Given the description of an element on the screen output the (x, y) to click on. 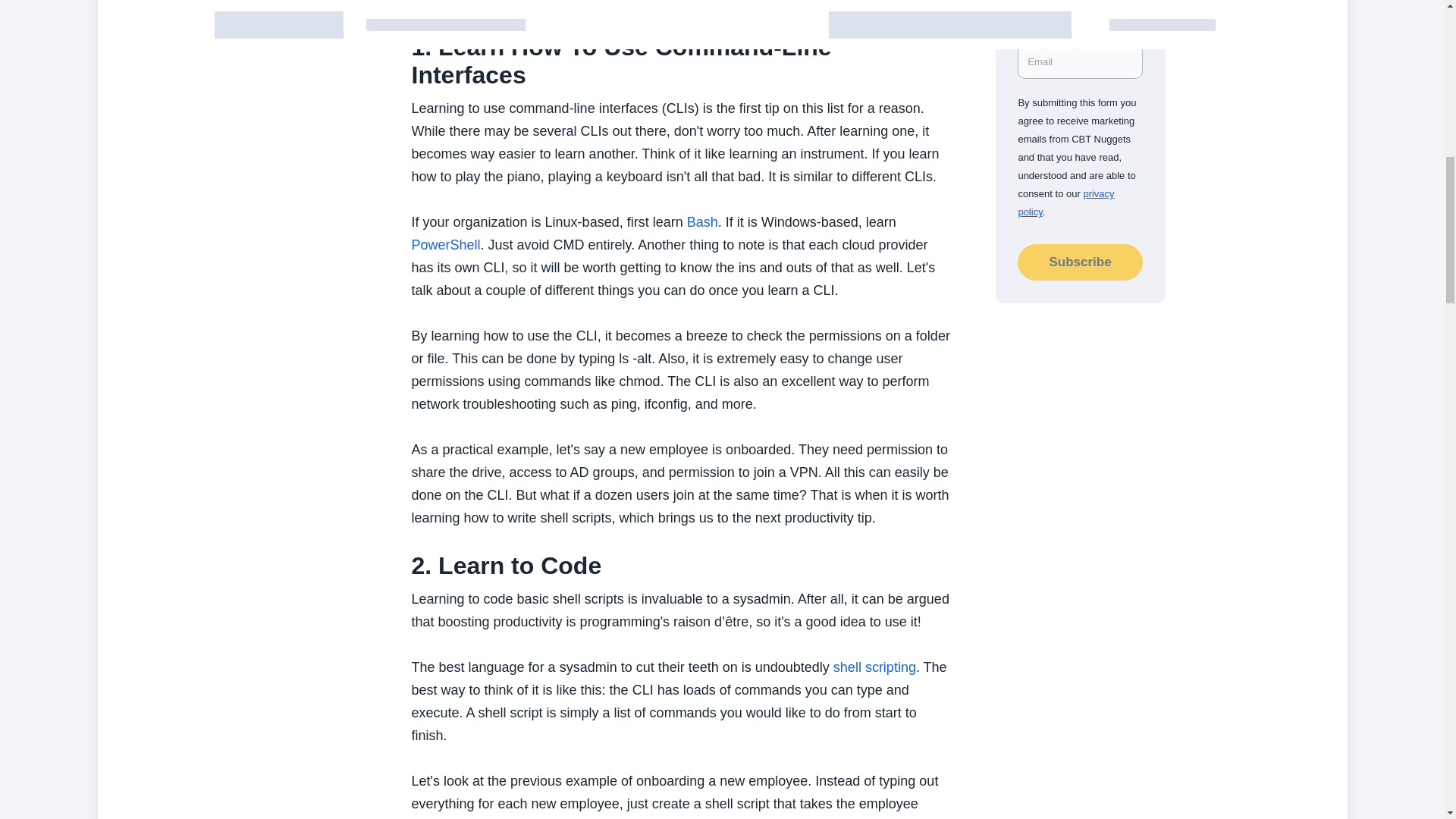
PowerShell (445, 244)
shell scripting (873, 667)
Bash (702, 222)
privacy policy (1065, 202)
Subscribe (1079, 262)
